Given the description of an element on the screen output the (x, y) to click on. 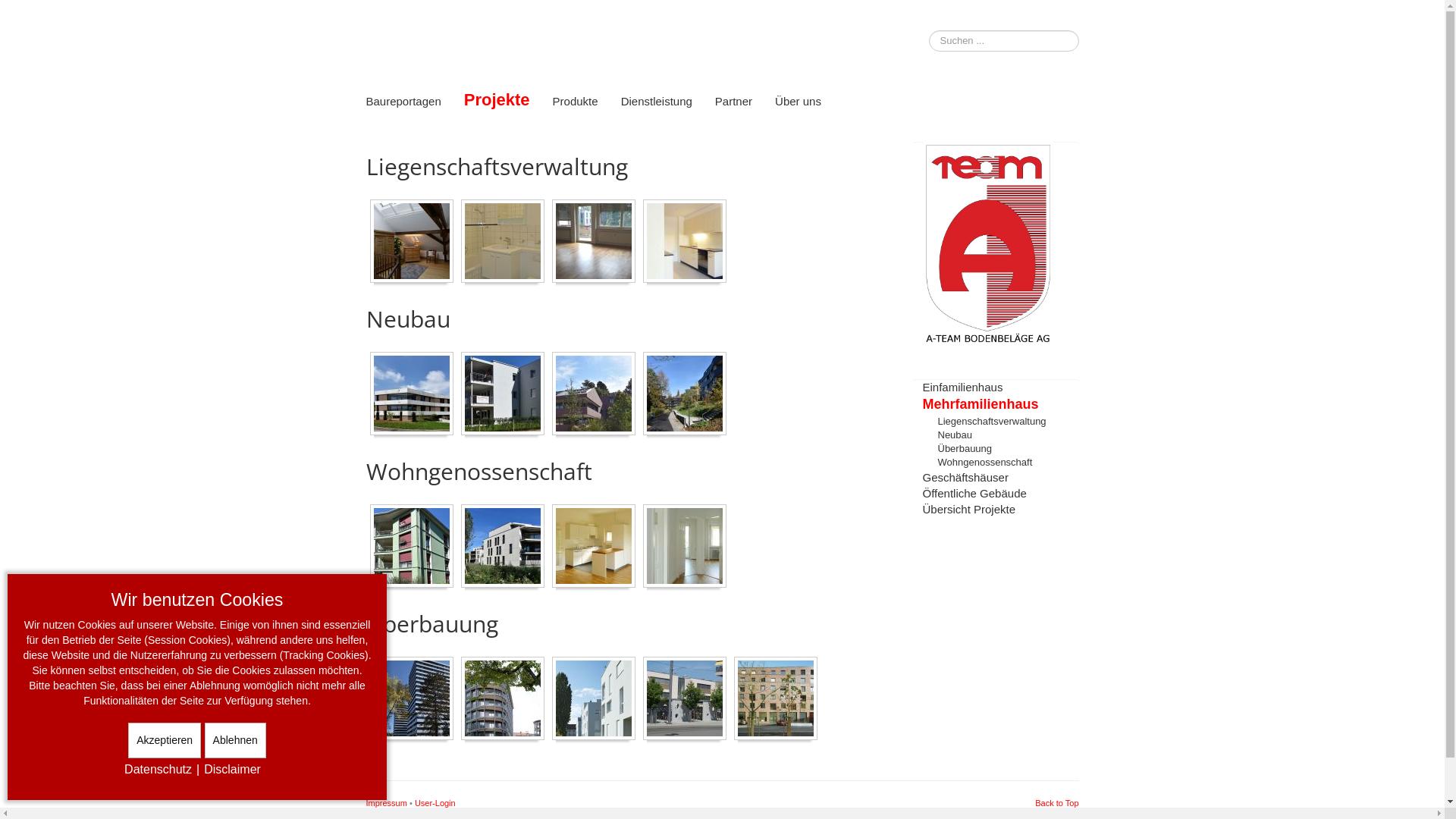
Disclaimer Element type: text (231, 769)
Produkte Element type: text (575, 100)
Neubau Element type: text (954, 434)
Mehrfamilienhaus Arlesheim Element type: hover (593, 393)
Neubau Element type: hover (502, 545)
Dienstleistung Element type: text (656, 100)
Mehrfamilienhaus Liestal Element type: hover (502, 393)
Riva Element type: hover (502, 698)
Volta West Element type: hover (775, 698)
Datenschutz Element type: text (157, 769)
Classic Riehen Element type: hover (684, 393)
Schoren Hochhaeuser Basel Element type: hover (411, 698)
Akzeptieren Element type: text (164, 740)
Einfamilienhaus Element type: text (962, 386)
Renovation Element type: hover (593, 240)
Baureportagen Element type: text (402, 100)
Drio Element type: hover (593, 698)
Partner Element type: text (733, 100)
User-Login Element type: text (434, 802)
Le Pont Element type: hover (684, 698)
Sanierung Element type: hover (684, 240)
Renovation Element type: hover (593, 545)
Wohnsiedlung Wettsteinquartier Element type: hover (411, 545)
Mehrfamilienhaus Element type: text (980, 403)
Curva Sissach Element type: hover (411, 393)
Impressum Element type: text (385, 802)
Wohngenossenschaft Element type: text (984, 461)
Schleifen Versiegeln Oelen Element type: hover (684, 545)
Back to Top Element type: text (1056, 802)
Ablehnen Element type: text (235, 740)
Denkmalschutz Element type: hover (411, 240)
Mieterwechsel Element type: hover (502, 240)
Liegenschaftsverwaltung Element type: text (991, 420)
Projekte Element type: text (497, 99)
